Given the description of an element on the screen output the (x, y) to click on. 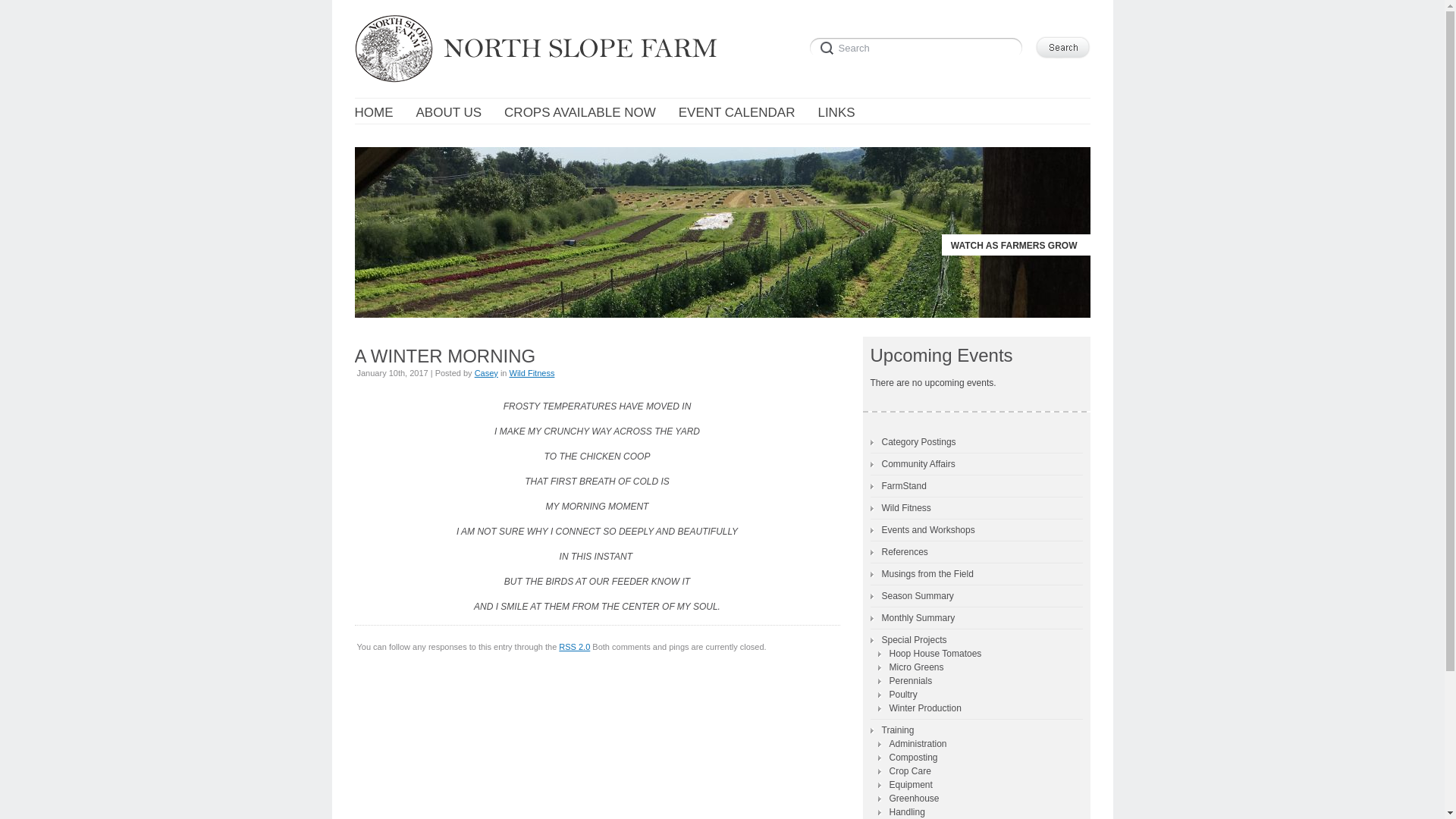
Greenhouse (908, 798)
Equipment (905, 784)
Casey (485, 372)
ABOUT US (447, 112)
Administration (912, 743)
Hoop House Tomatoes (929, 653)
Wild Fitness (900, 507)
References (899, 551)
LINKS (835, 112)
Search (918, 45)
